Given the description of an element on the screen output the (x, y) to click on. 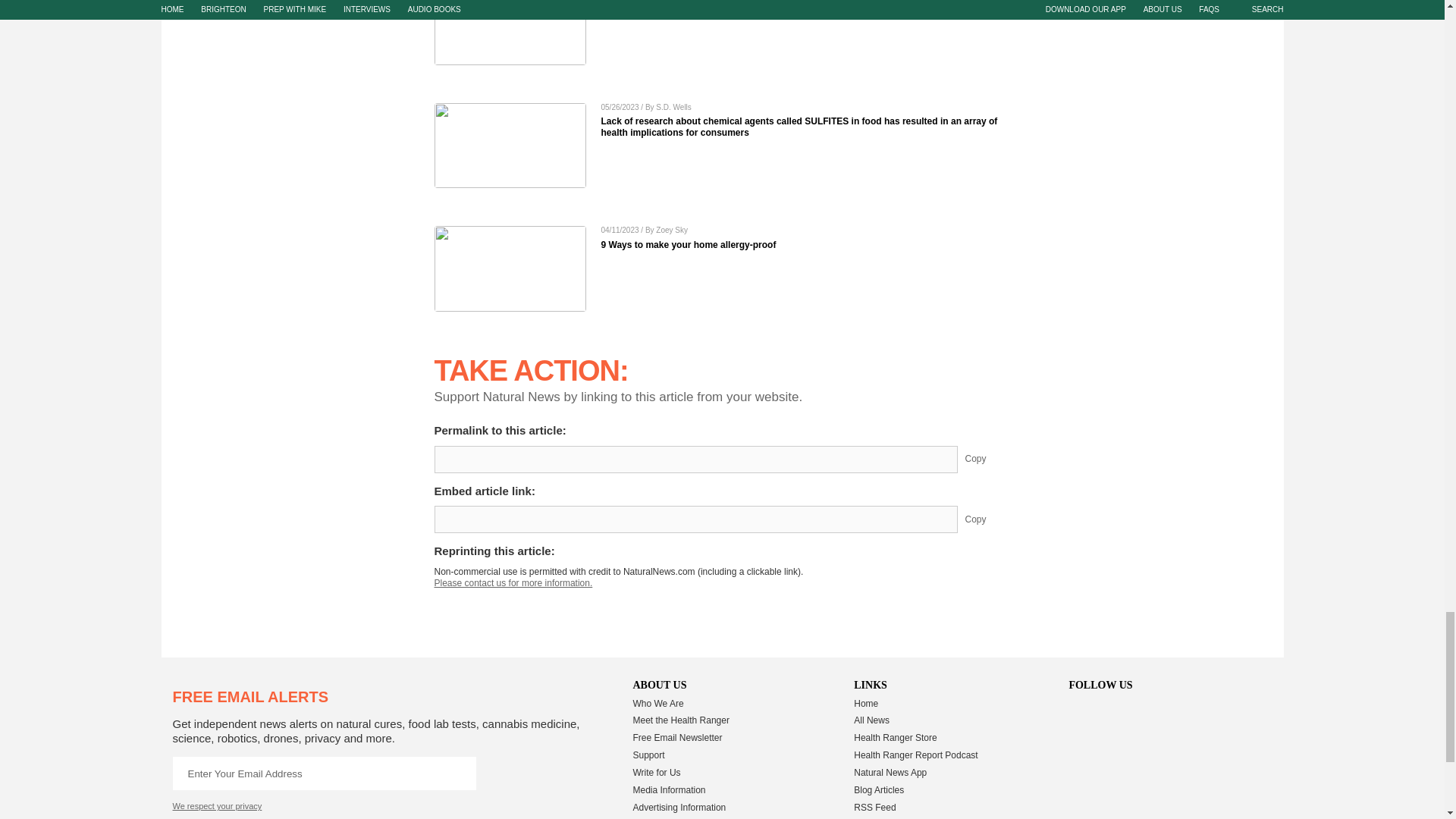
Copy Permalink (986, 459)
Copy Embed Link (986, 519)
Continue (459, 773)
